Given the description of an element on the screen output the (x, y) to click on. 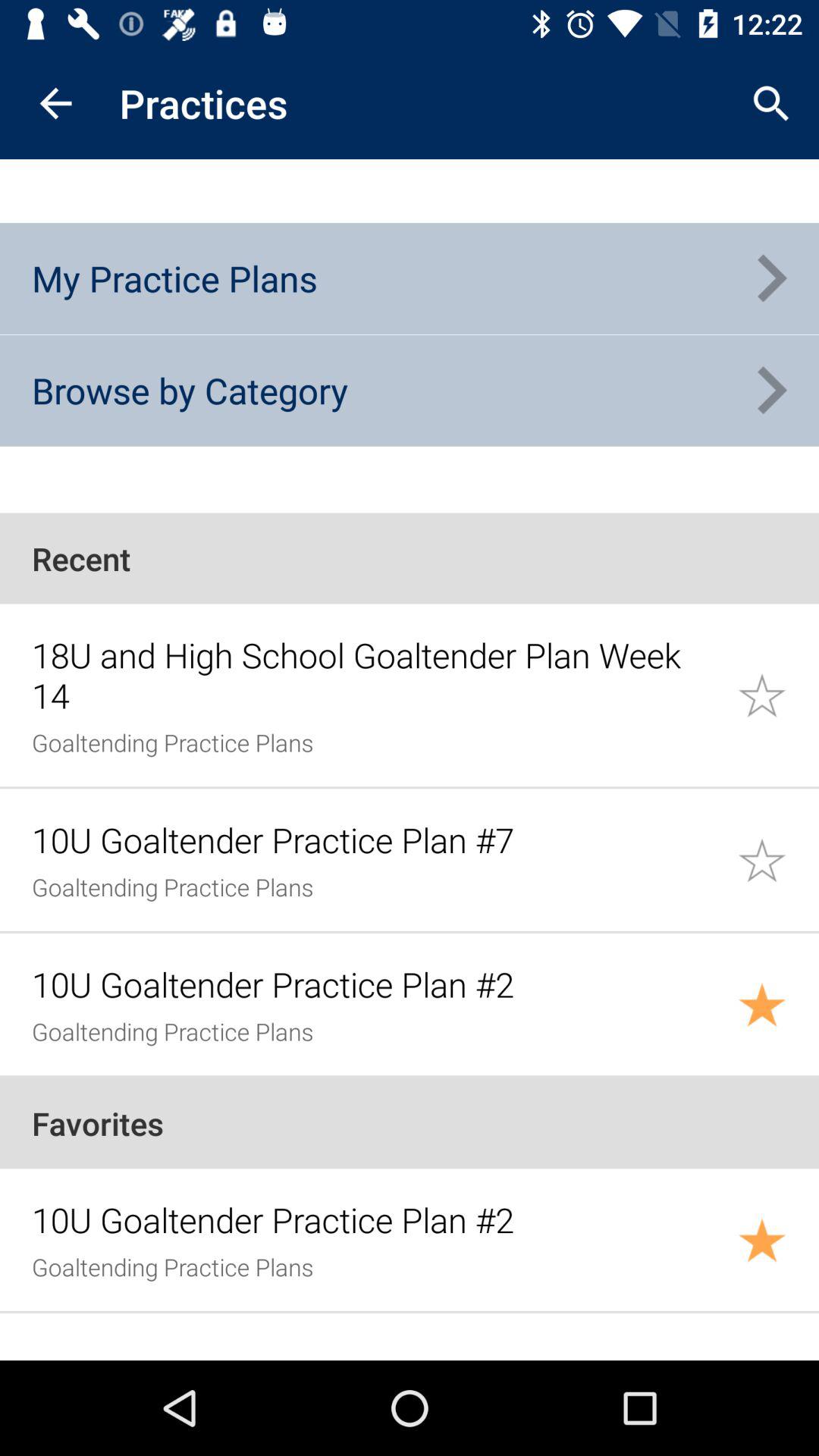
make plan a favorite (778, 1239)
